Given the description of an element on the screen output the (x, y) to click on. 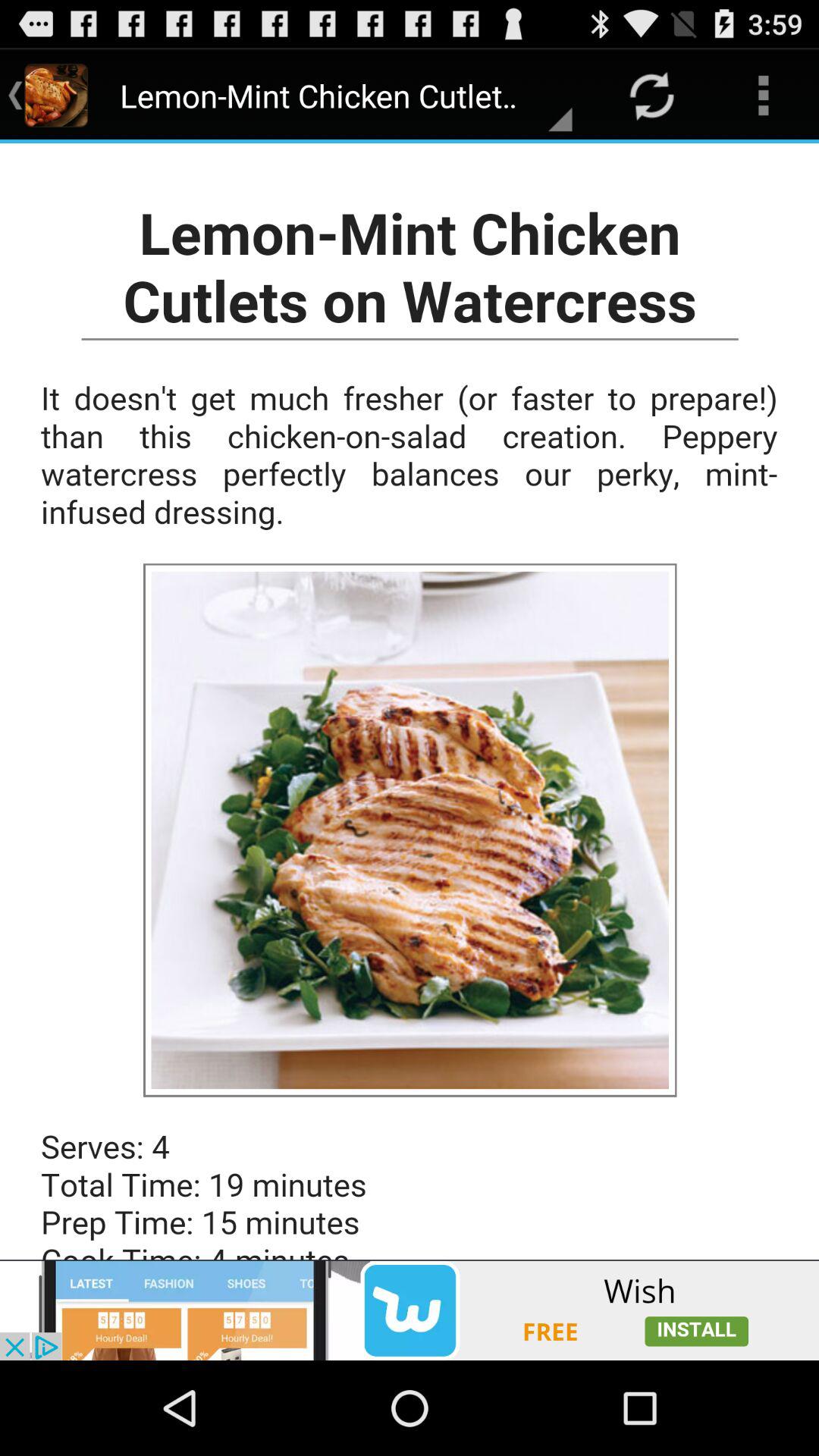
chicken cutlets (409, 701)
